Given the description of an element on the screen output the (x, y) to click on. 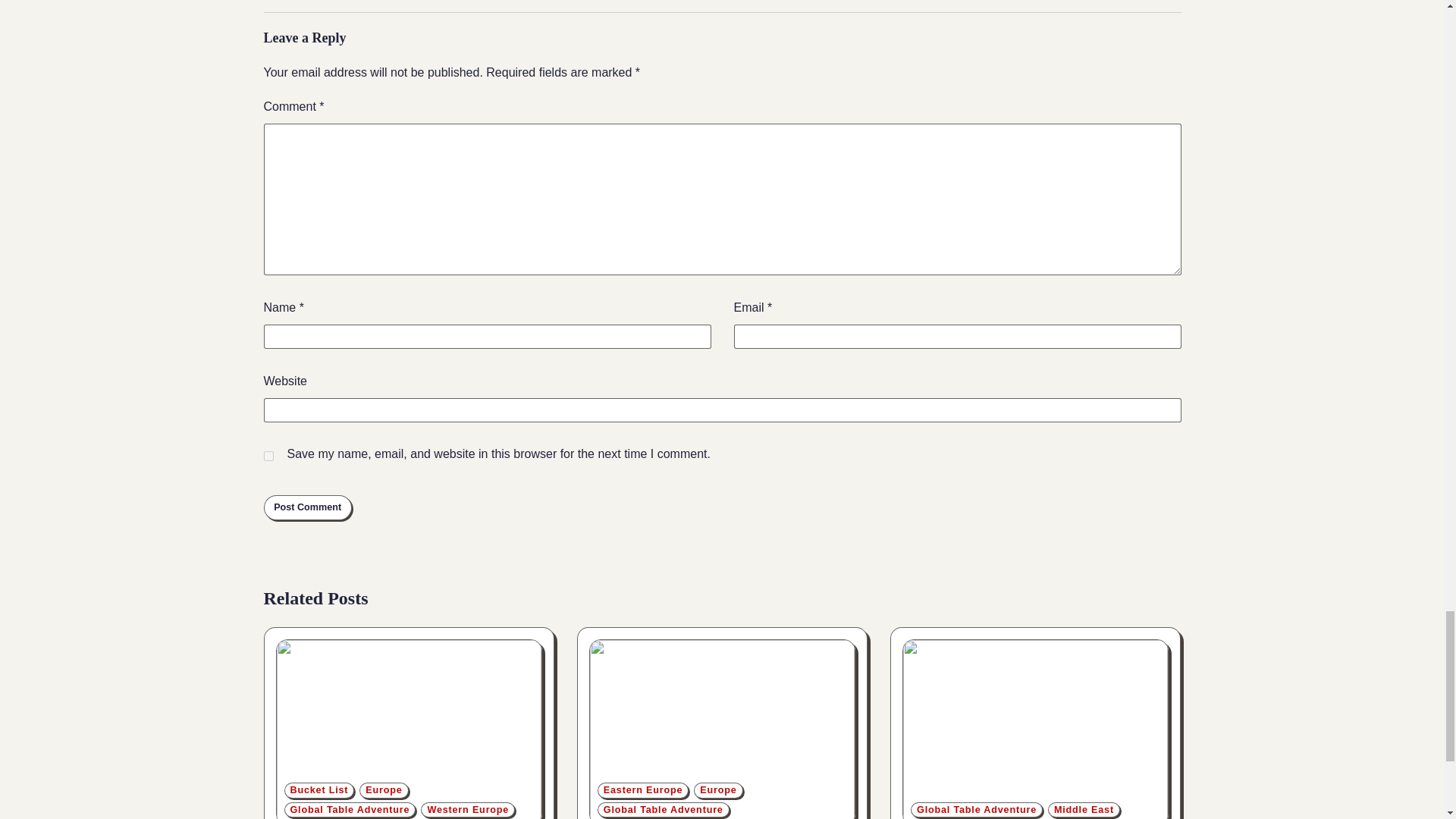
yes (268, 455)
Post Comment (307, 507)
